Given the description of an element on the screen output the (x, y) to click on. 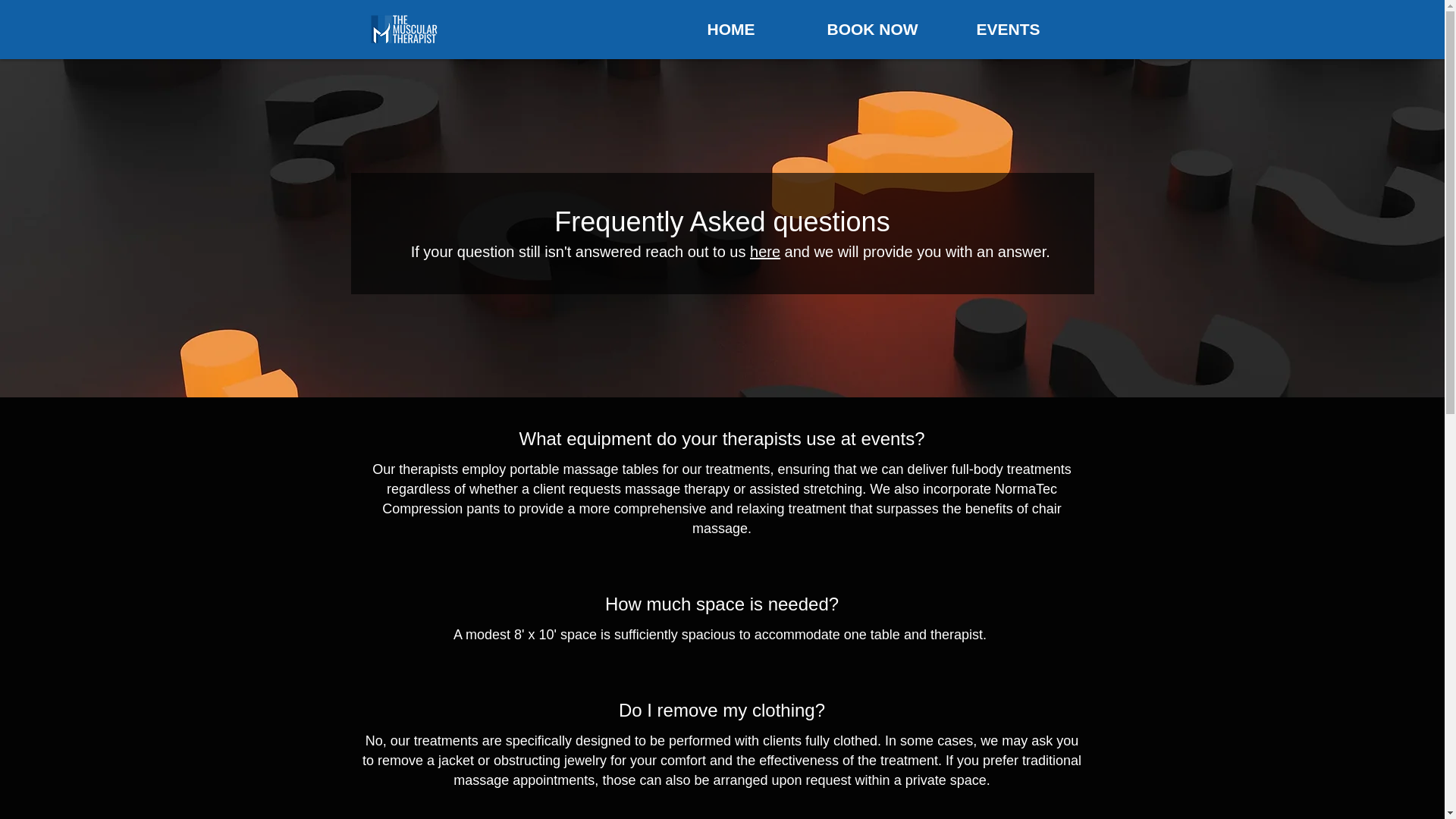
EVENTS (1028, 29)
HOME (755, 29)
BOOK NOW (890, 29)
here (764, 251)
